Given the description of an element on the screen output the (x, y) to click on. 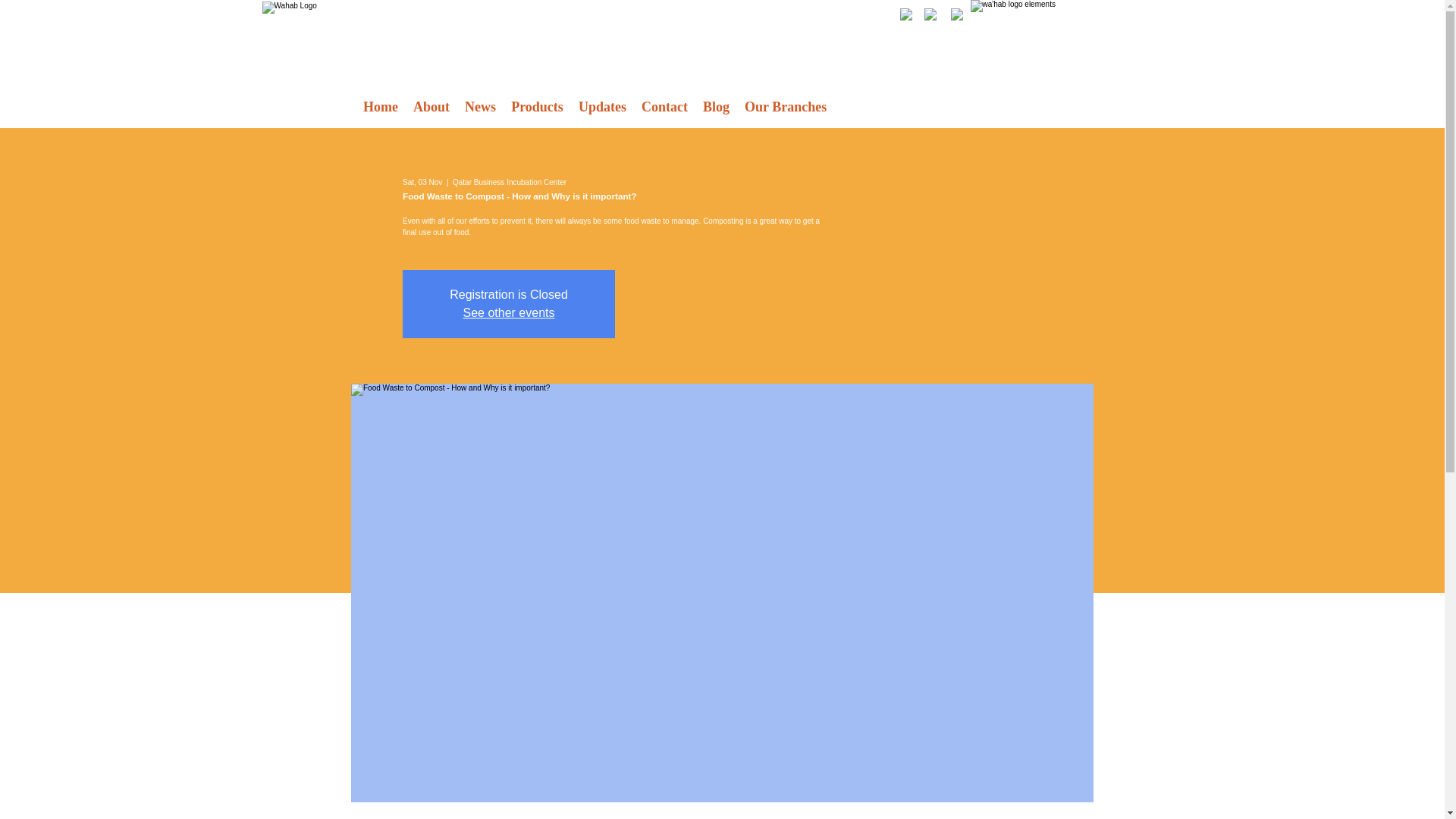
Blog (715, 106)
Updates (601, 106)
News (480, 106)
Home (380, 106)
About (431, 106)
Contact (664, 106)
See other events (508, 312)
Our Branches (785, 106)
Products (536, 106)
